Given the description of an element on the screen output the (x, y) to click on. 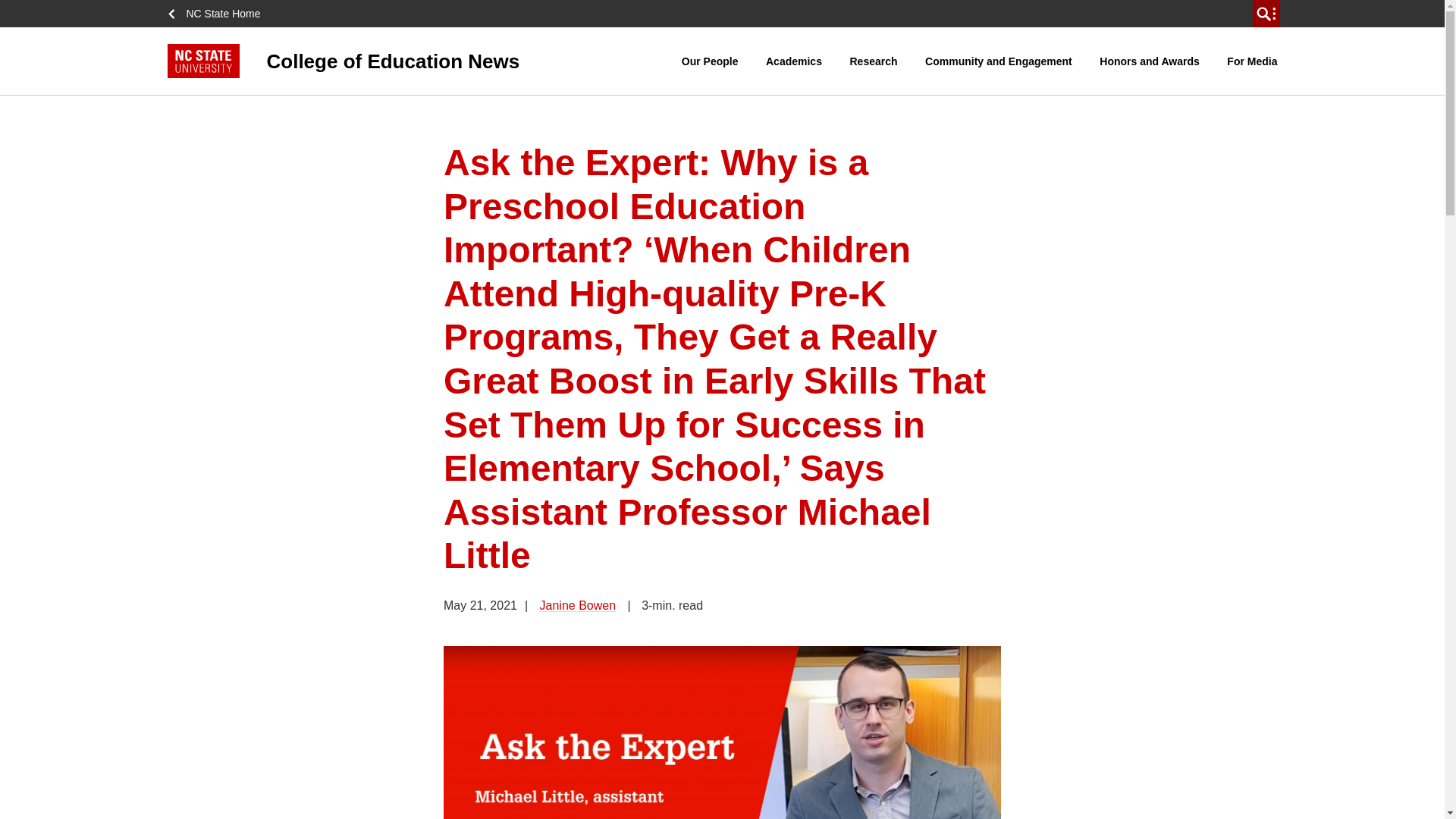
Research (873, 61)
Our People (710, 61)
Janine Bowen (577, 604)
NC State Home (217, 13)
For Media (1252, 61)
Academics (793, 61)
Honors and Awards (1149, 61)
Community and Engagement (998, 61)
College of Education News (424, 61)
Posts by Janine Bowen (577, 604)
